Given the description of an element on the screen output the (x, y) to click on. 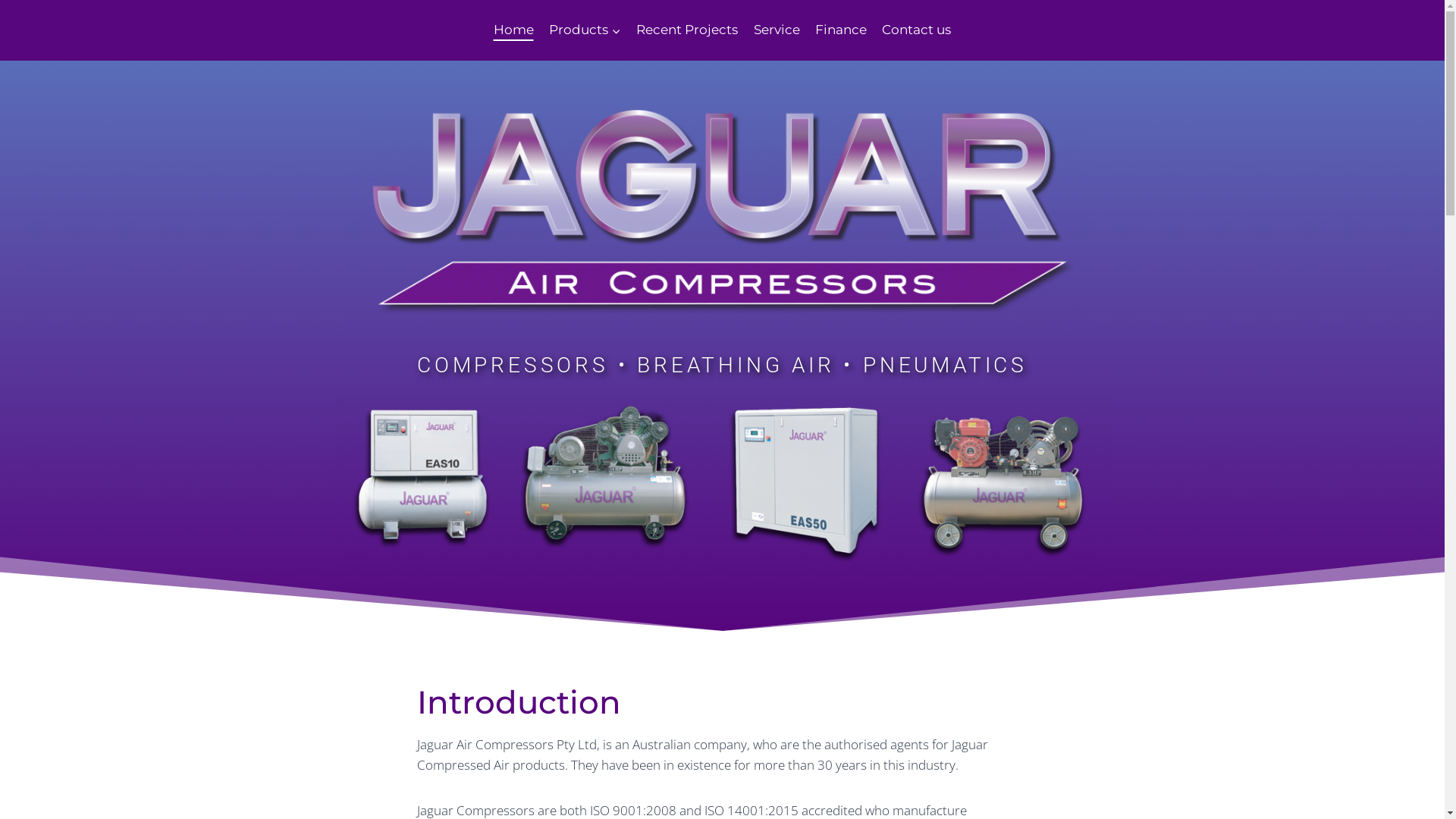
Finance Element type: text (840, 30)
Home Element type: text (512, 30)
Contact us Element type: text (916, 30)
Service Element type: text (776, 30)
Products Element type: text (584, 30)
Recent Projects Element type: text (686, 30)
